Given the description of an element on the screen output the (x, y) to click on. 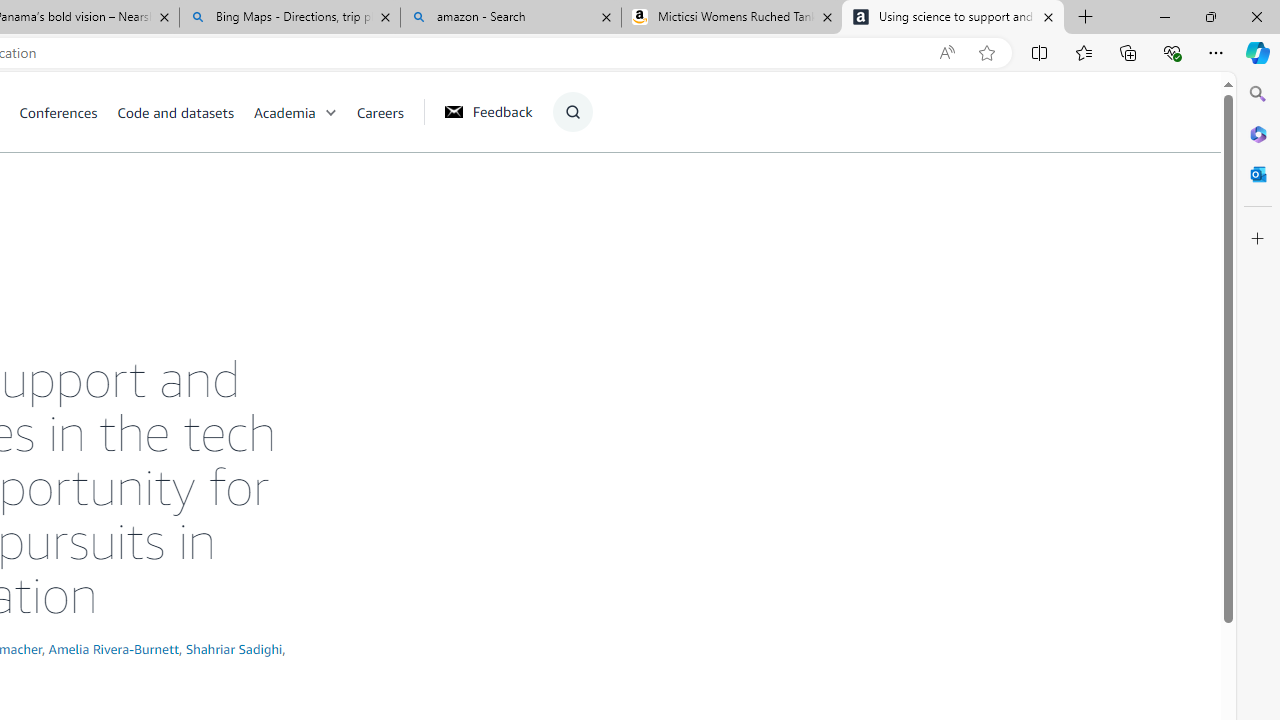
Code and datasets (175, 111)
Academia (284, 111)
Shahriar Sadighi (233, 648)
Careers (379, 111)
Code and datasets (184, 111)
Conferences (58, 111)
Amelia Rivera-Burnett (113, 648)
Feedback (488, 111)
Academia (305, 111)
